Given the description of an element on the screen output the (x, y) to click on. 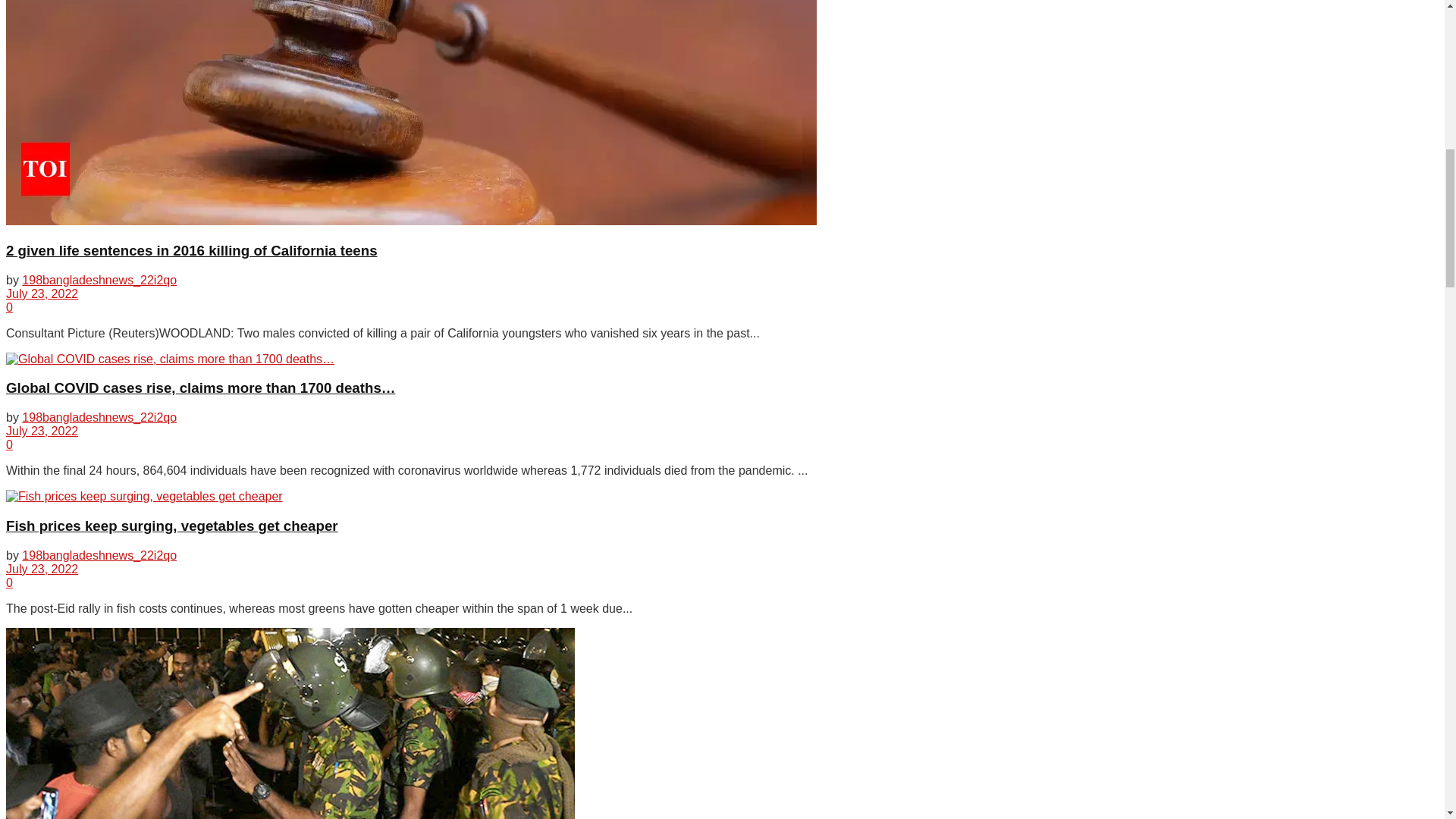
Fish prices keep surging, vegetables get cheaper (143, 496)
Sri Lankan forces raid anti-government protest camp (290, 723)
